Given the description of an element on the screen output the (x, y) to click on. 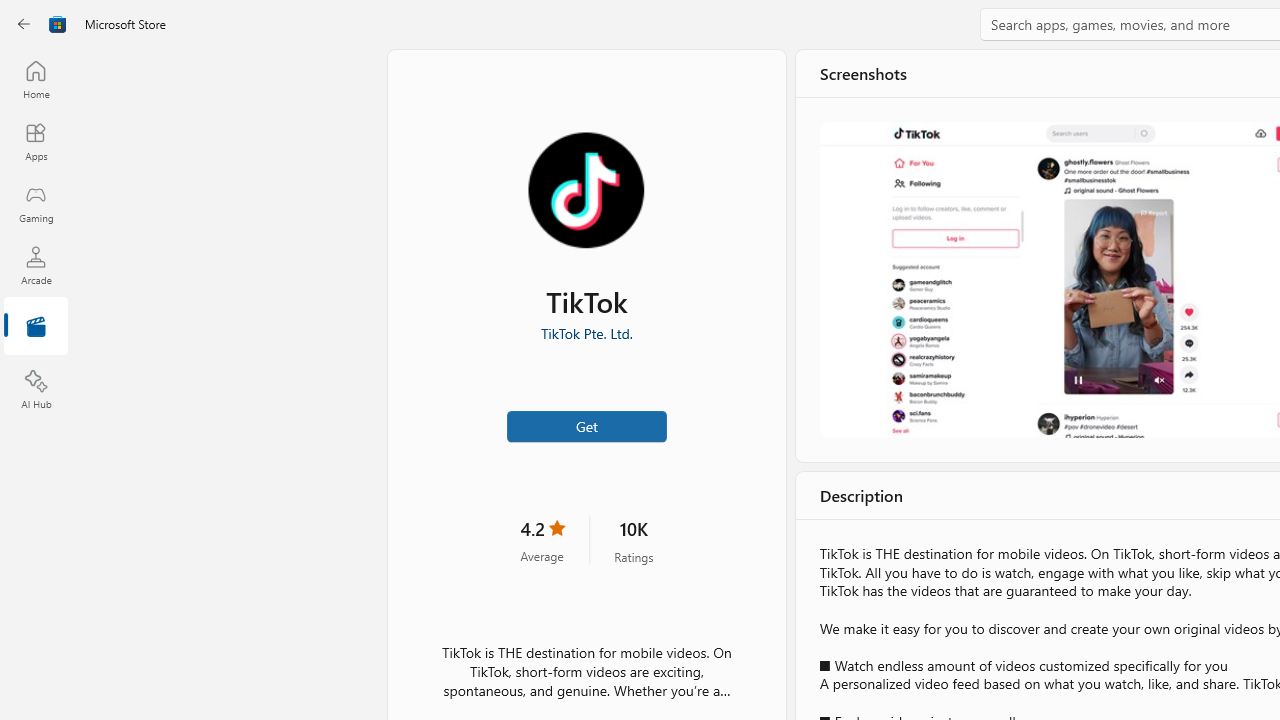
Entertainment (35, 327)
TikTok Pte. Ltd. (586, 333)
Apps (35, 141)
Arcade (35, 265)
Back (24, 24)
AI Hub (35, 390)
Class: Image (58, 24)
Get (586, 424)
4.2 stars. Click to skip to ratings and reviews (542, 539)
Home (35, 79)
Gaming (35, 203)
